Given the description of an element on the screen output the (x, y) to click on. 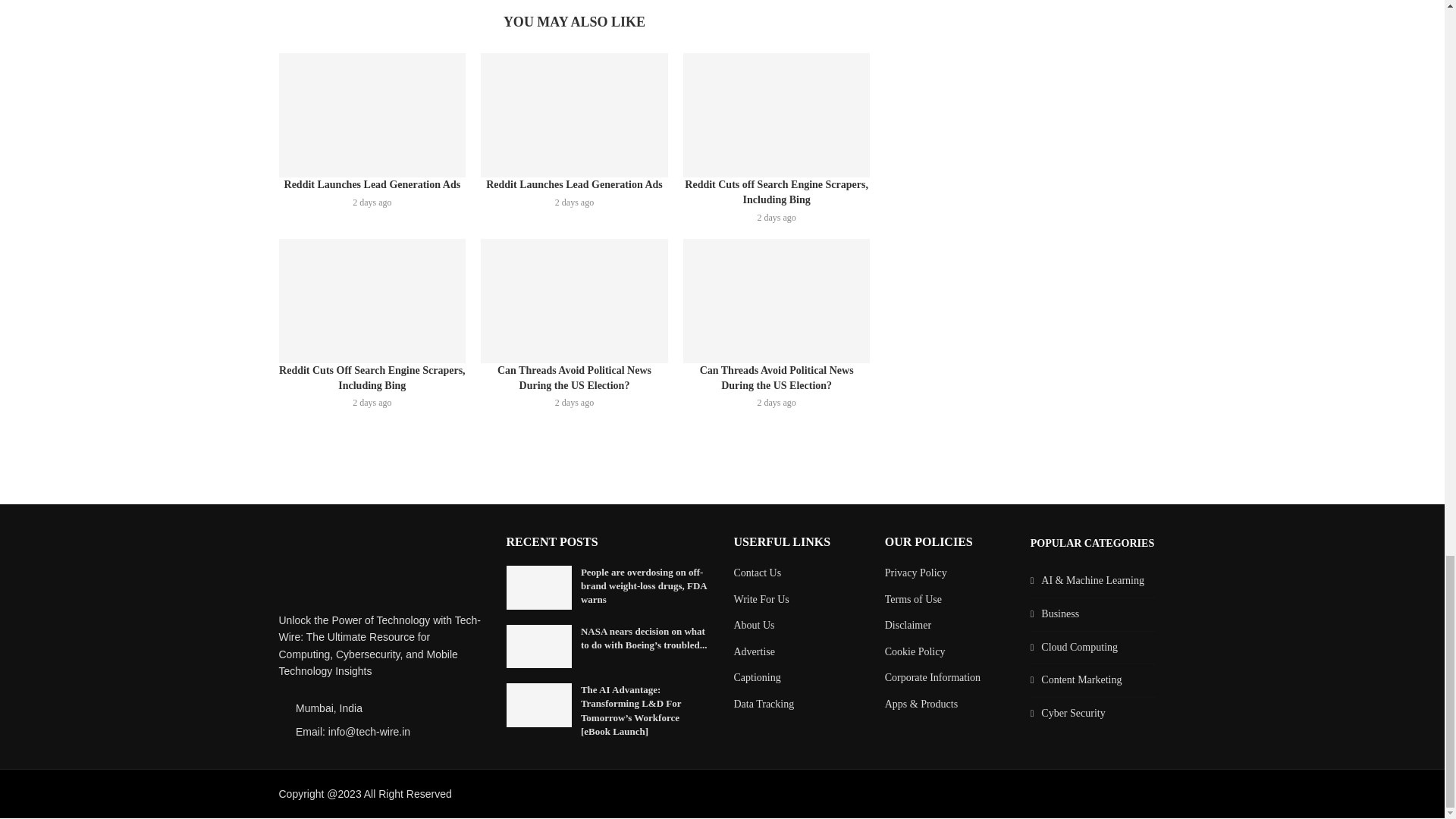
Reddit Launches Lead Generation Ads (372, 115)
Reddit Cuts Off Search Engine Scrapers, Including Bing (372, 301)
Can Threads Avoid Political News During the US Election? (574, 301)
Can Threads Avoid Political News During the US Election? (776, 301)
Reddit Launches Lead Generation Ads (574, 115)
Reddit Cuts off Search Engine Scrapers, Including Bing (776, 115)
